Given the description of an element on the screen output the (x, y) to click on. 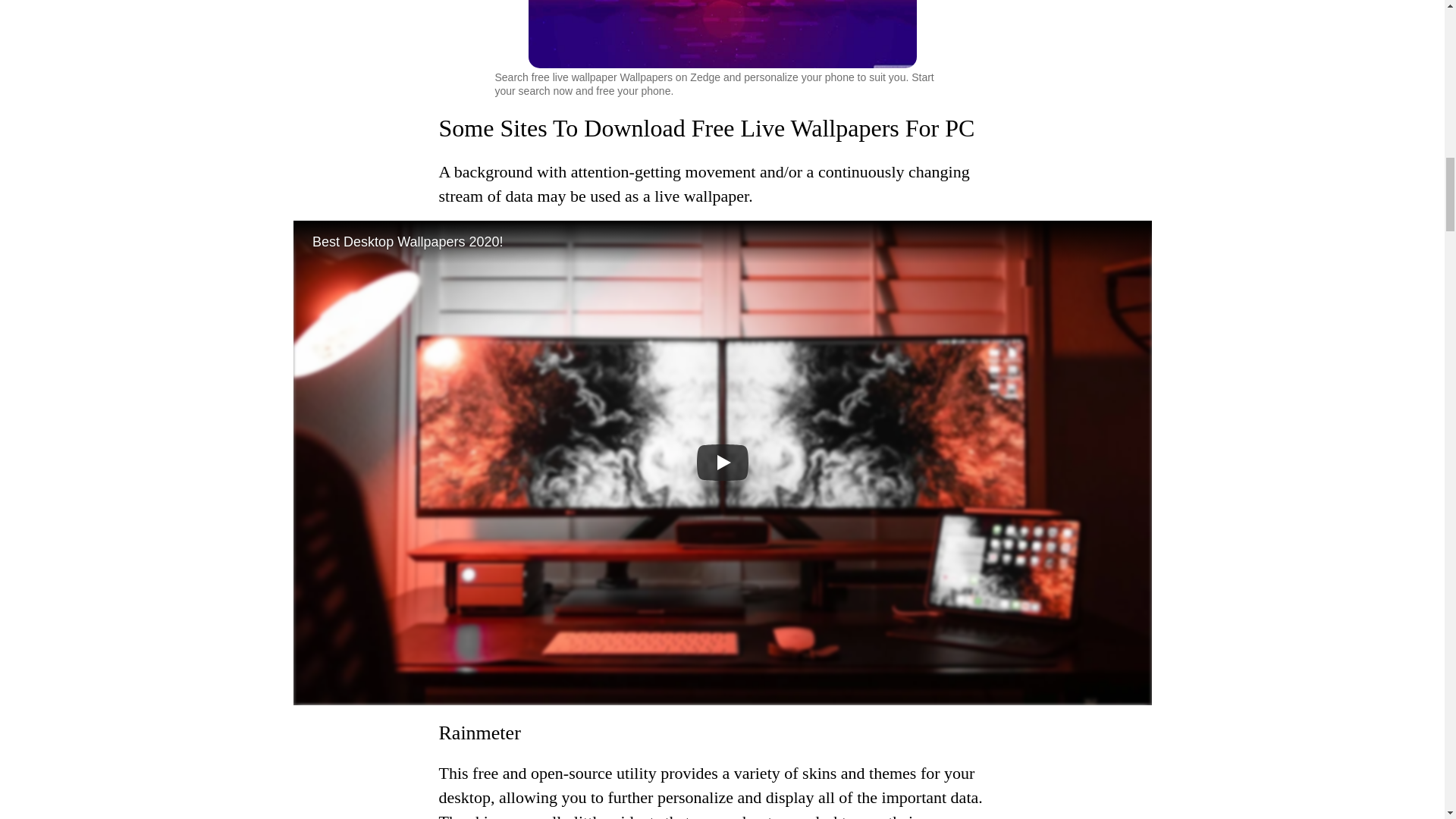
Rainmeter (478, 732)
Rainmeter (478, 732)
Some Sites To Download Free Live Wallpapers For PC (706, 127)
Some Sites To Download Free Live Wallpapers For PC (706, 127)
